Given the description of an element on the screen output the (x, y) to click on. 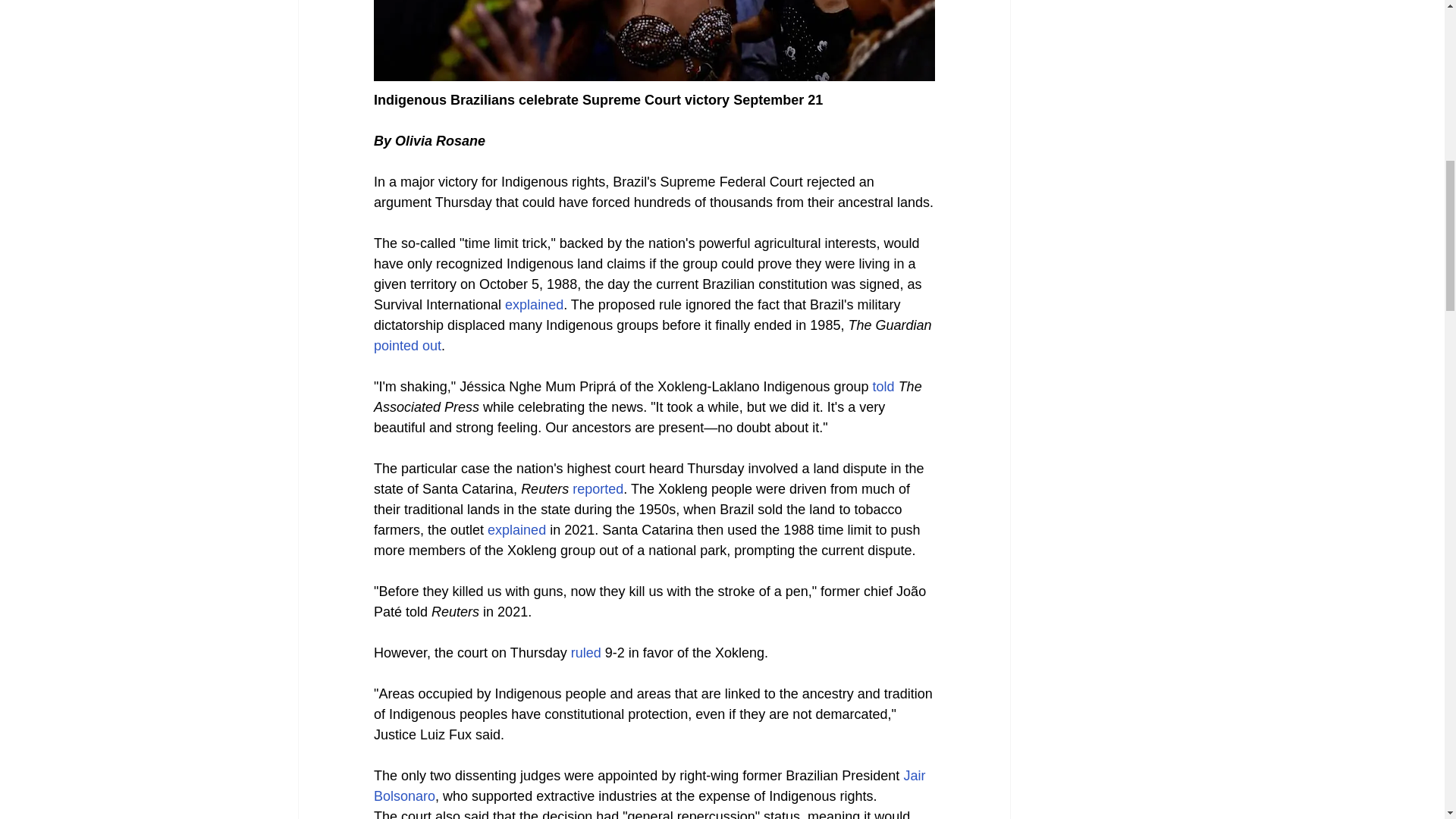
reported (597, 488)
ruled (584, 652)
pointed out (406, 345)
explained (534, 304)
explained (516, 529)
told (882, 386)
Jair Bolsonaro (650, 785)
